Given the description of an element on the screen output the (x, y) to click on. 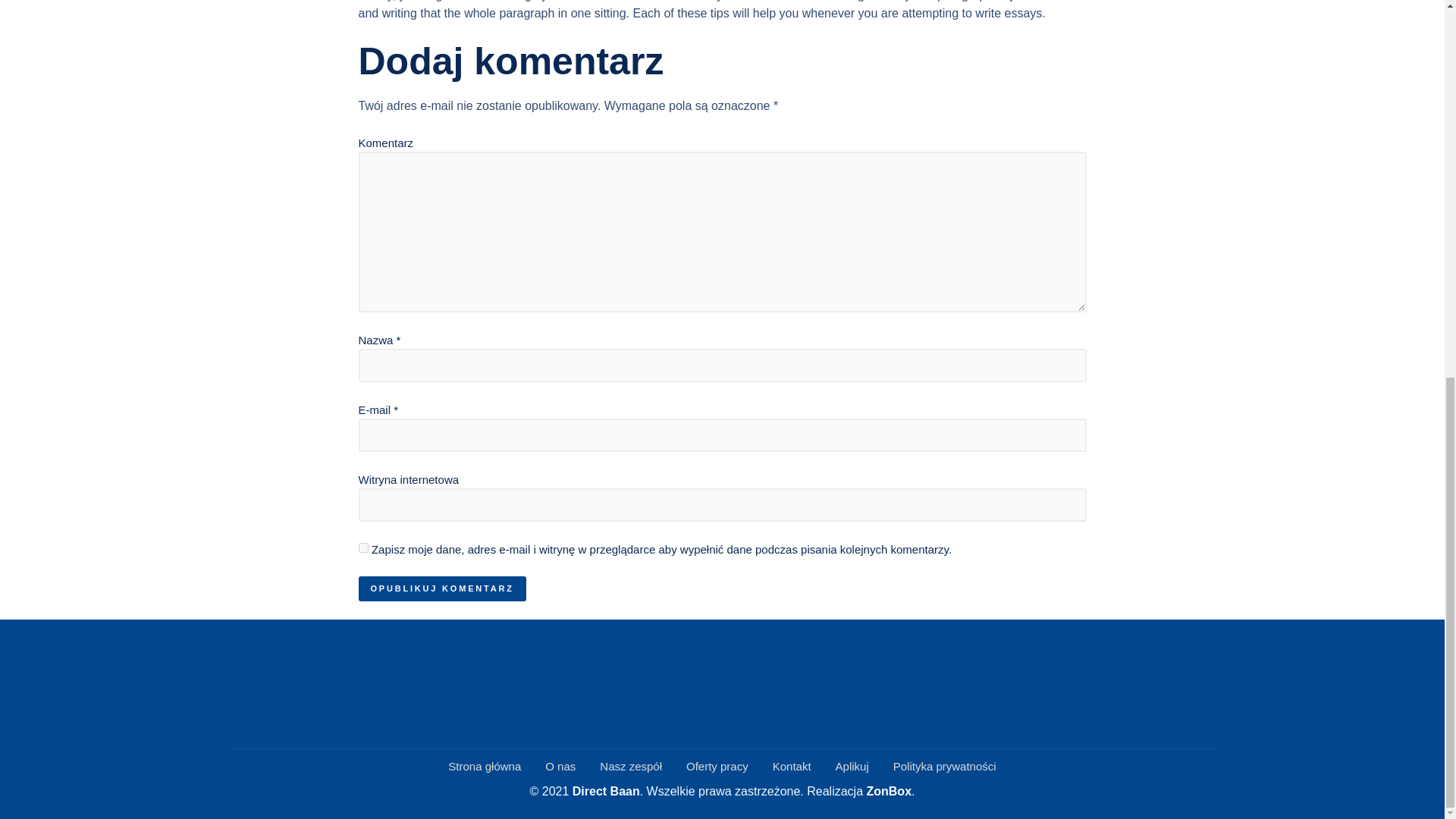
Opublikuj komentarz (441, 588)
Oferty pracy (716, 766)
ZonBox (888, 790)
yes (363, 547)
Aplikuj (852, 766)
O nas (559, 766)
Kontakt (791, 766)
Opublikuj komentarz (441, 588)
